Given the description of an element on the screen output the (x, y) to click on. 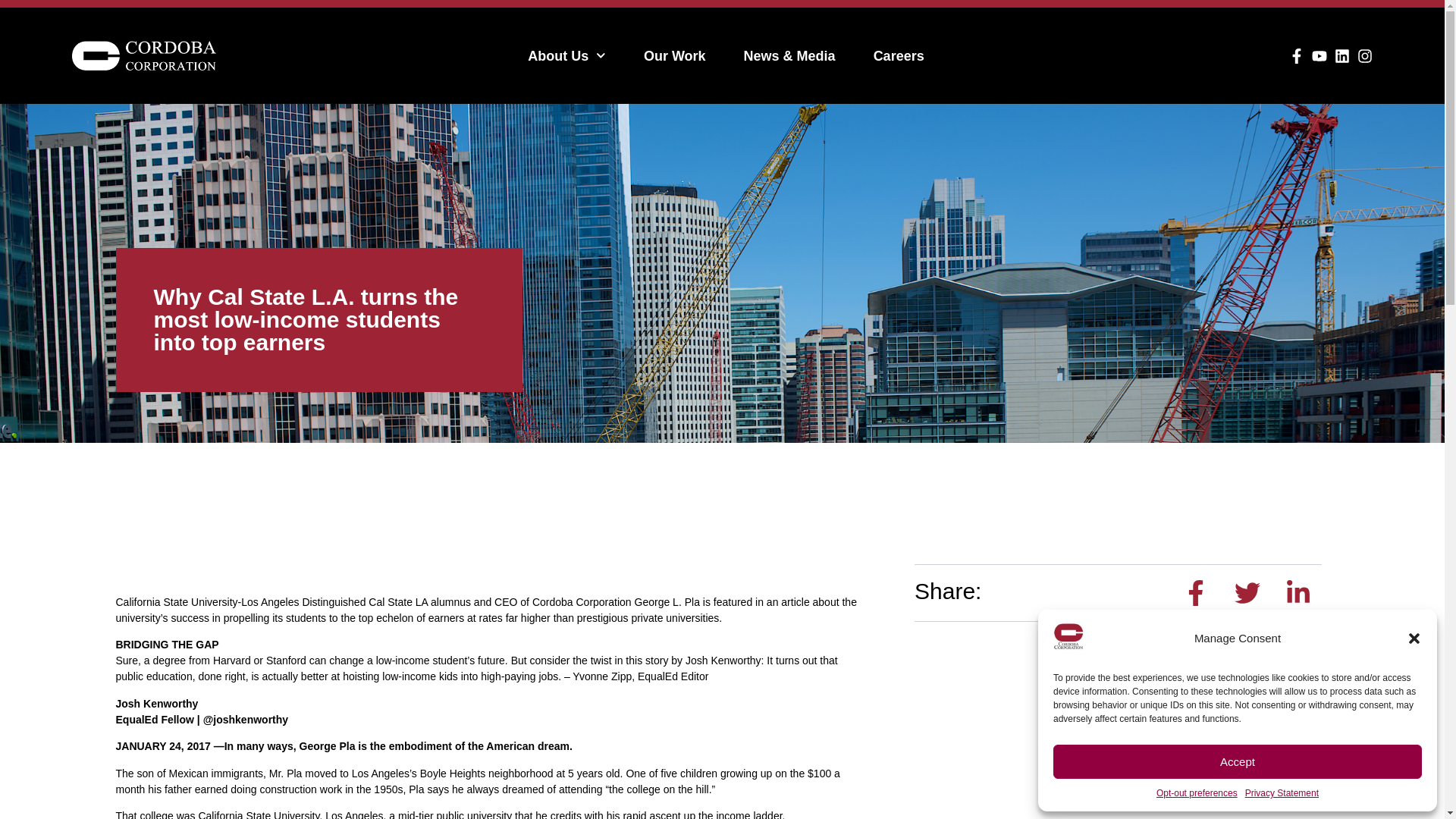
Accept (1237, 761)
Opt-out preferences (1196, 793)
Privacy Statement (1281, 793)
Careers (898, 46)
About Us (566, 37)
Our Work (674, 43)
